Given the description of an element on the screen output the (x, y) to click on. 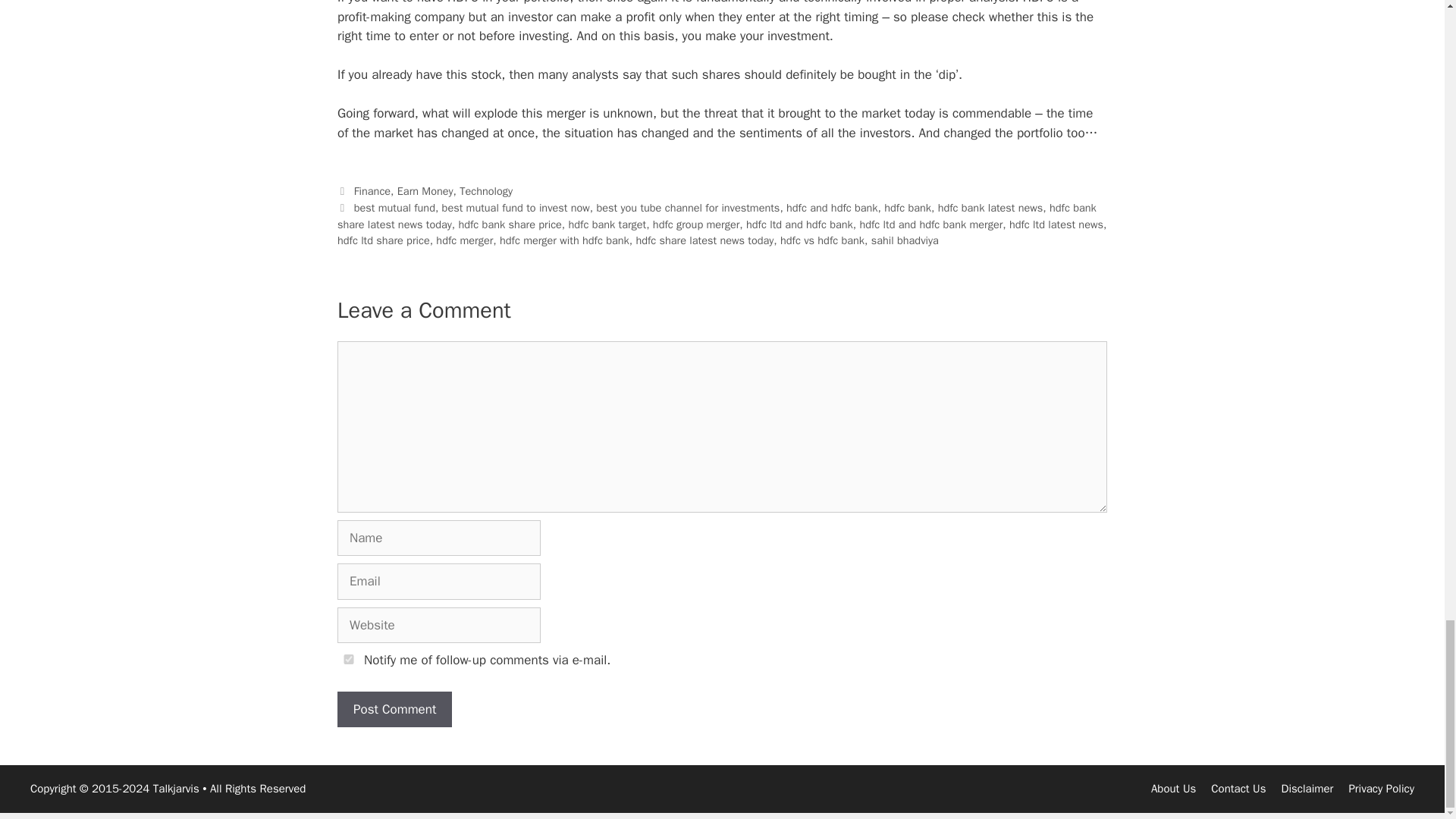
best you tube channel for investments (686, 207)
hdfc bank latest news (990, 207)
yes (348, 659)
hdfc and hdfc bank (831, 207)
best mutual fund (394, 207)
hdfc bank share latest news today (716, 215)
Earn Money (424, 191)
Finance (371, 191)
hdfc bank (907, 207)
Post Comment (394, 709)
Technology (486, 191)
best mutual fund to invest now (515, 207)
